Given the description of an element on the screen output the (x, y) to click on. 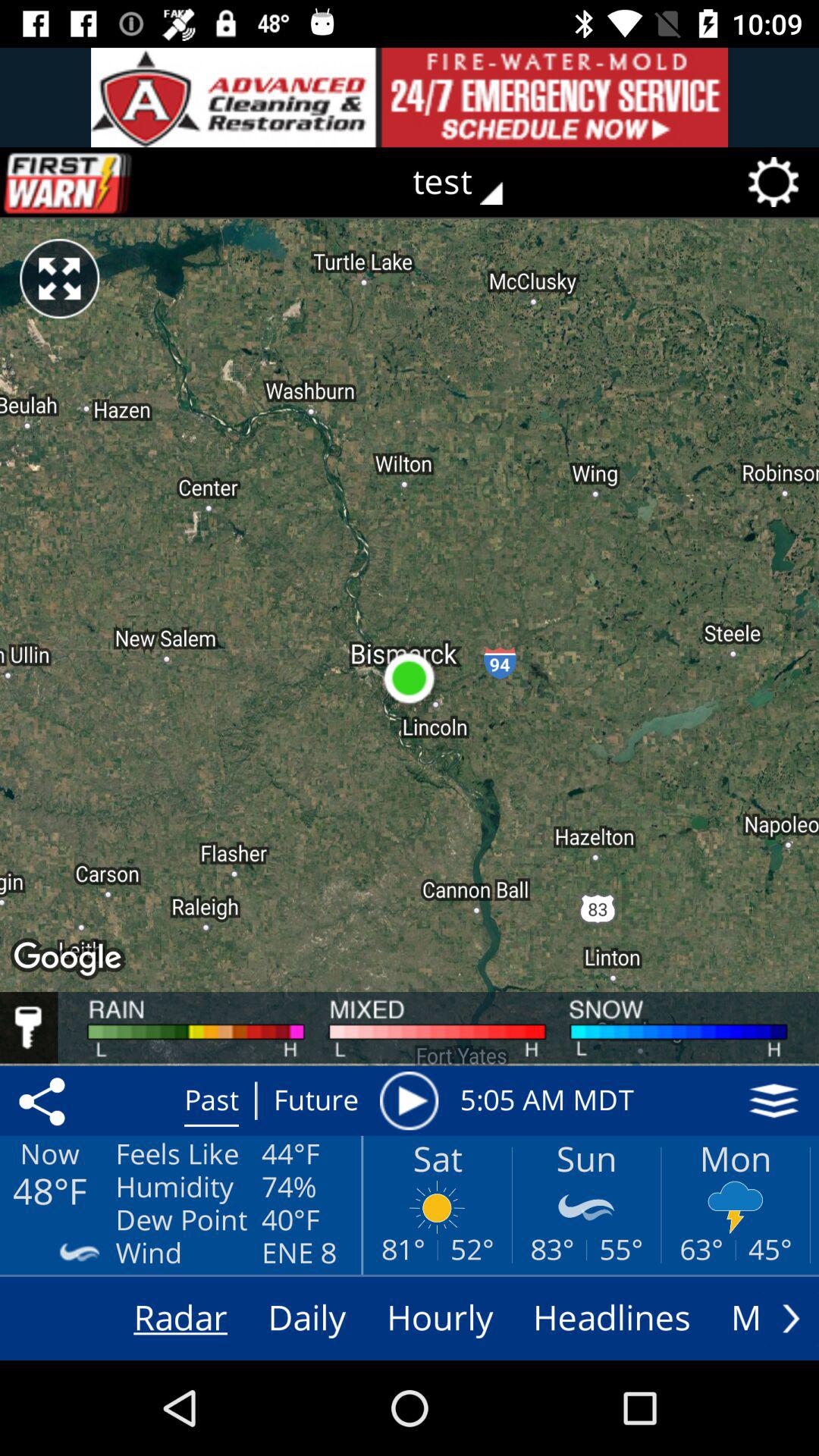
open the item to the left of the 5 05 am icon (409, 1100)
